Given the description of an element on the screen output the (x, y) to click on. 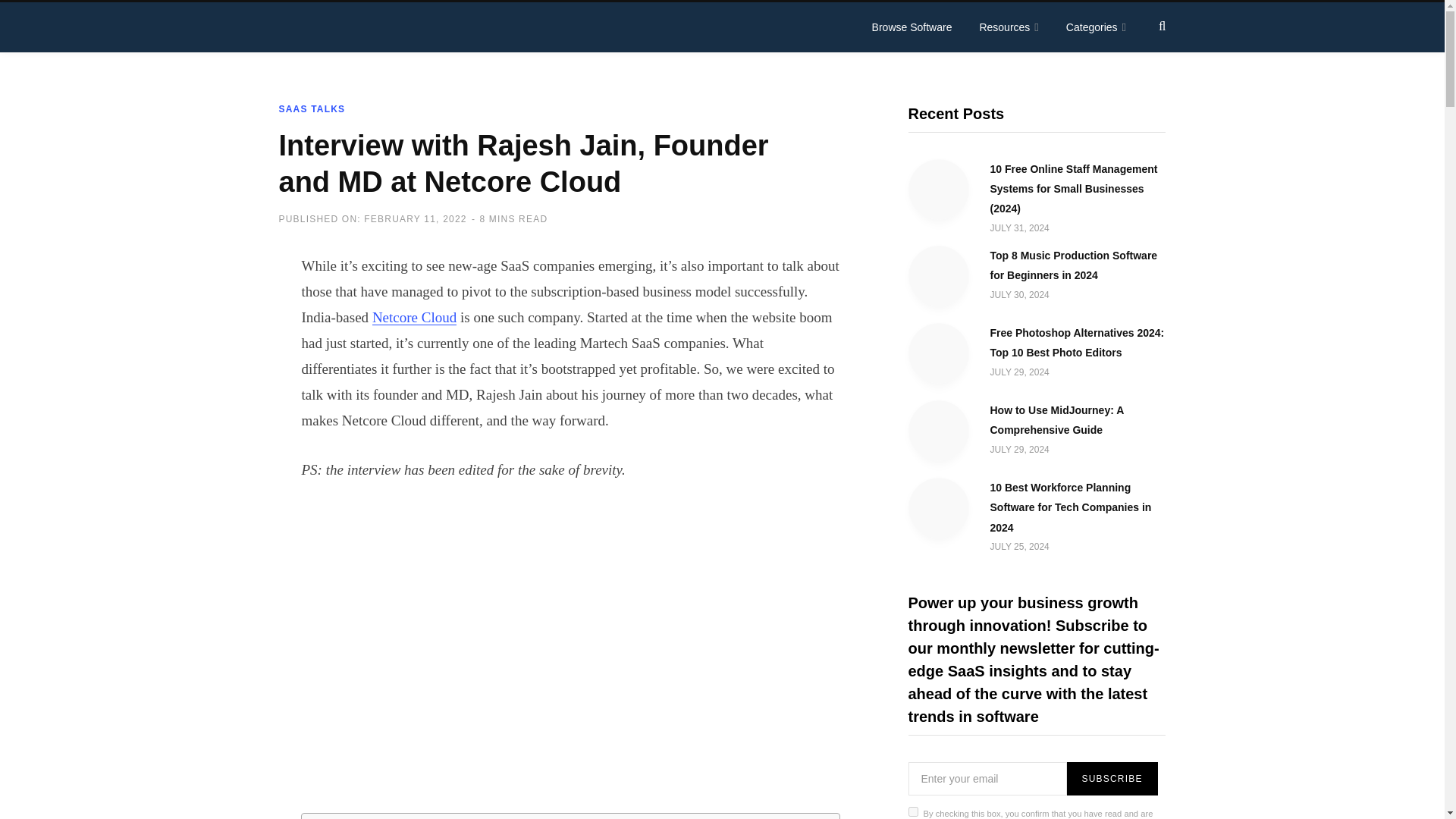
Netcore Cloud (414, 317)
Resources (1008, 26)
Search (1162, 26)
SAAS TALKS (312, 109)
on (913, 811)
Categories (1096, 26)
Browse Software (912, 26)
SaaSworthy Blog (392, 26)
PUBLISHED ON: FEBRUARY 11, 2022 (373, 218)
